Given the description of an element on the screen output the (x, y) to click on. 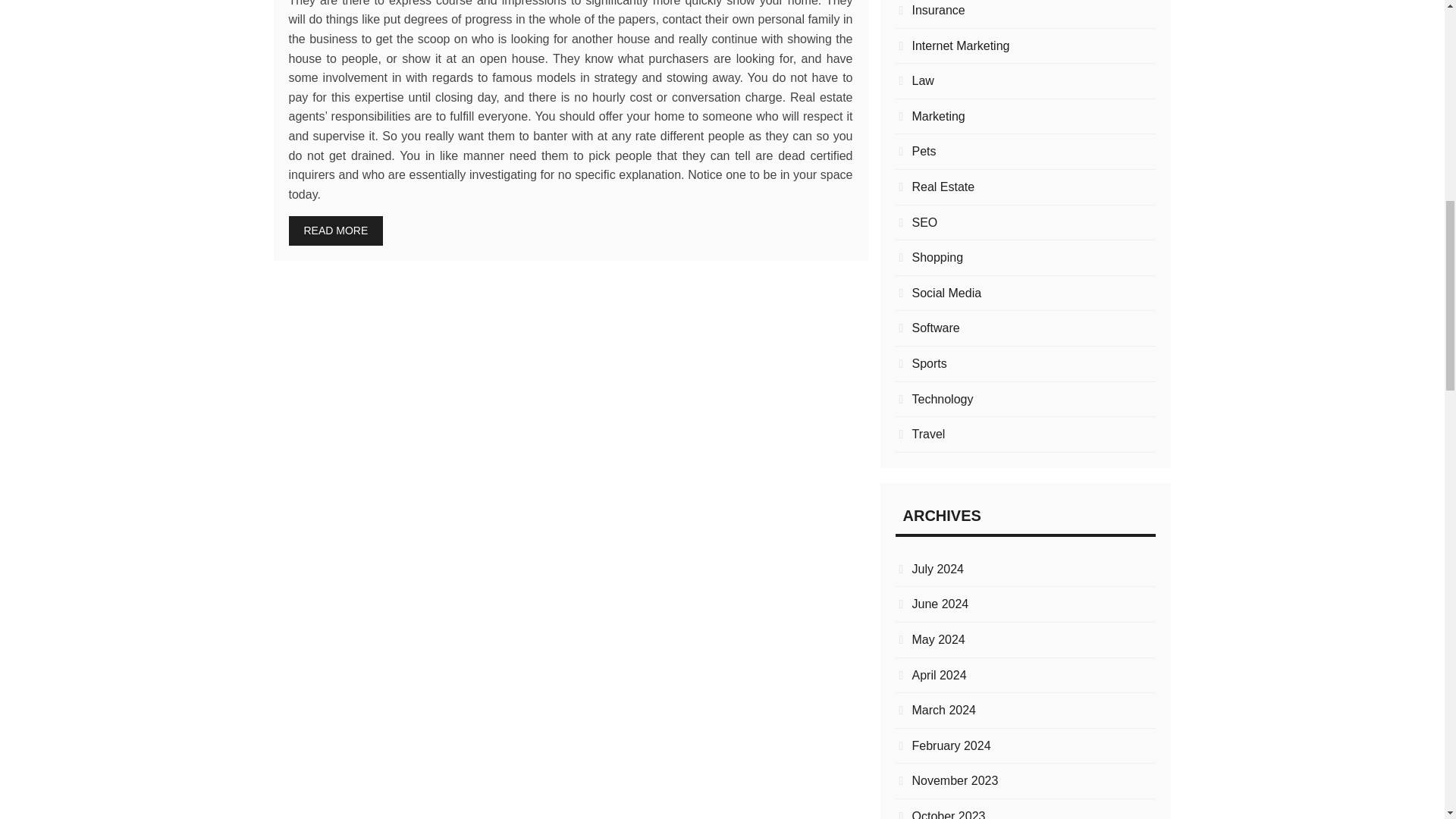
READ MORE (335, 230)
Shopping (1025, 257)
Marketing (1025, 116)
Law (1025, 80)
Real Estate (1025, 187)
Software (1025, 328)
SEO (1025, 222)
Pets (1025, 151)
Technology (1025, 399)
Social Media (1025, 293)
